Given the description of an element on the screen output the (x, y) to click on. 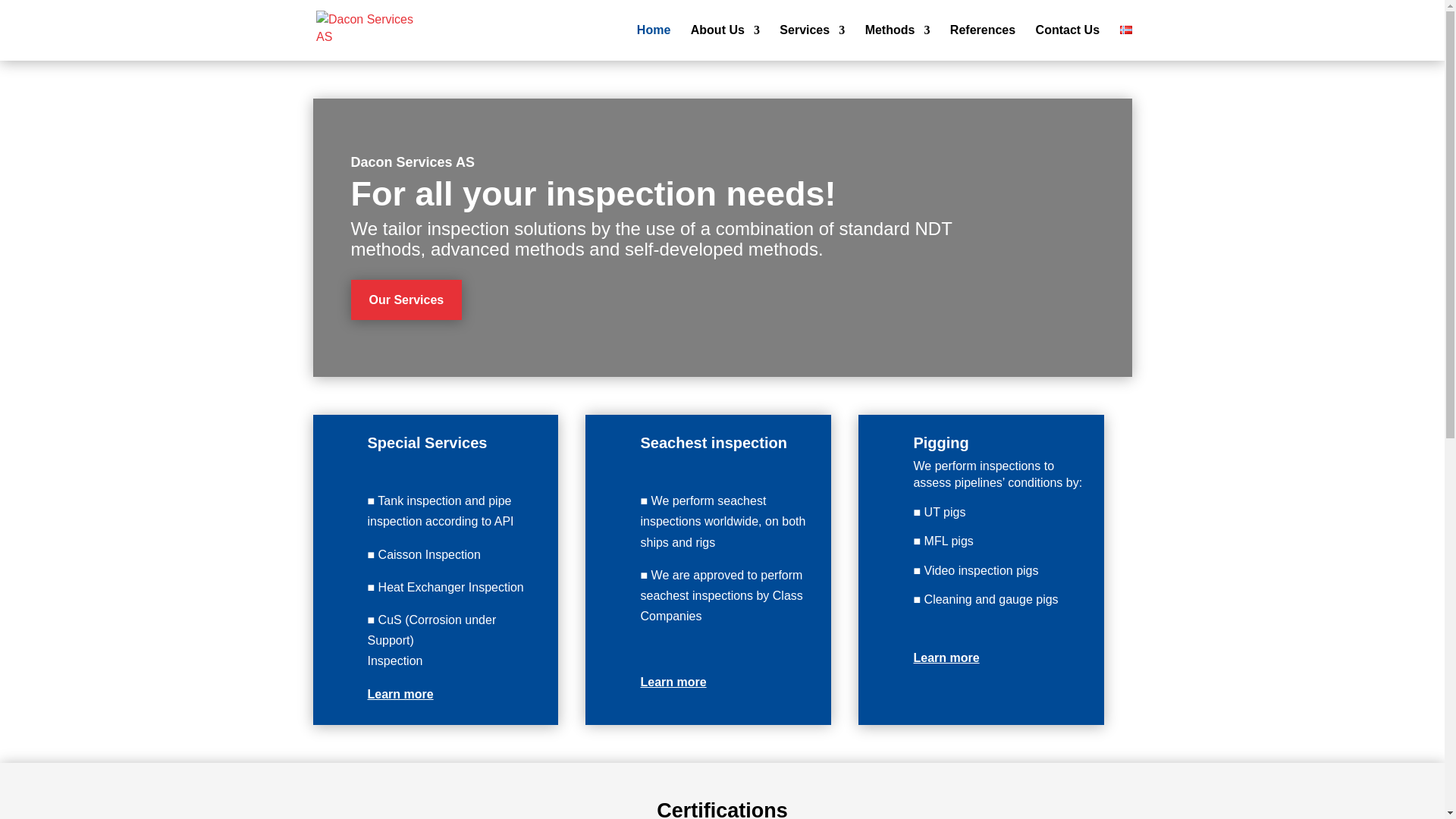
Learn more (399, 694)
Home (653, 42)
References (982, 42)
Learn more (673, 681)
Learn more (945, 657)
Contact Us (1067, 42)
Methods (897, 42)
About Us (725, 42)
Our Services (405, 300)
Services (811, 42)
